Given the description of an element on the screen output the (x, y) to click on. 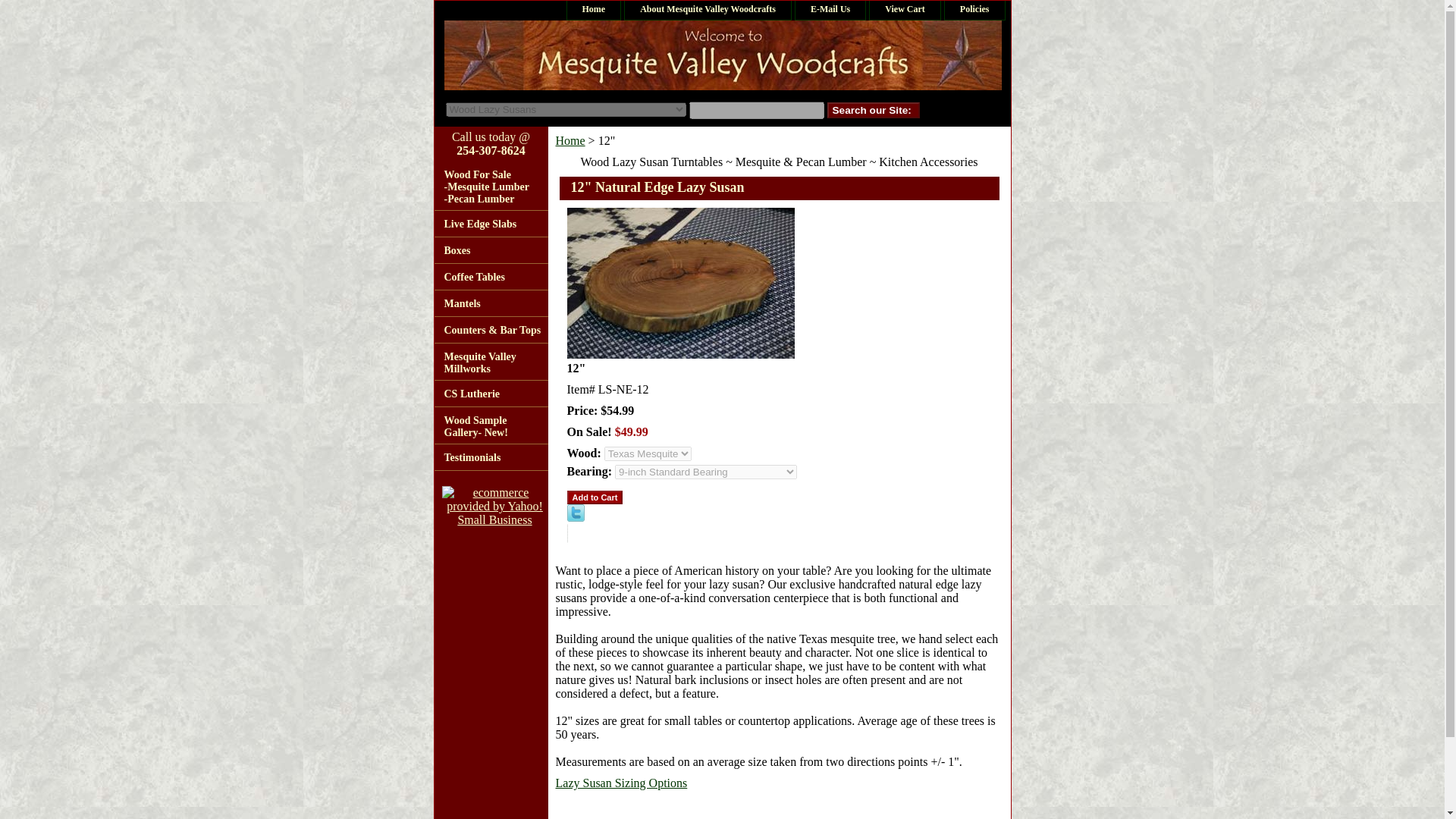
Mantels (490, 303)
Live Edge Slabs (490, 223)
Testimonials (490, 457)
View Cart (904, 9)
Boxes (490, 250)
About Mesquite Valley Woodcrafts (707, 9)
Tweet (576, 517)
Wood Sample Gallery- New! (490, 425)
Testimonials (490, 457)
Add to Cart (595, 497)
